Given the description of an element on the screen output the (x, y) to click on. 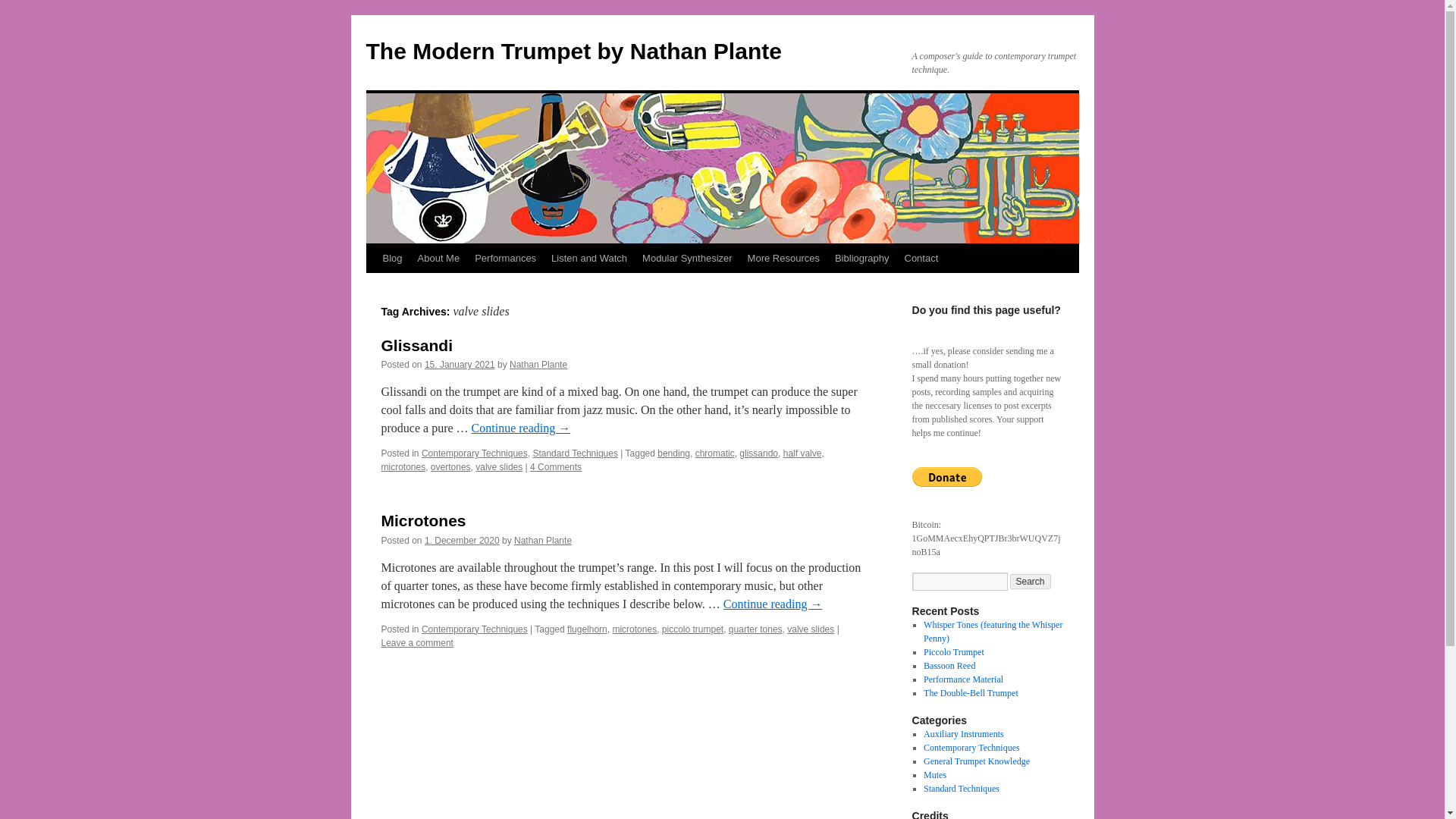
The Modern Trumpet by Nathan Plante (572, 50)
16:18 (460, 364)
Bassoon Reed (949, 665)
1. December 2020 (462, 540)
Leave a comment (416, 643)
About Me (438, 258)
chromatic (715, 452)
Performance Material (963, 679)
PayPal - The safer, easier way to pay online! (946, 476)
Blog (391, 258)
